Given the description of an element on the screen output the (x, y) to click on. 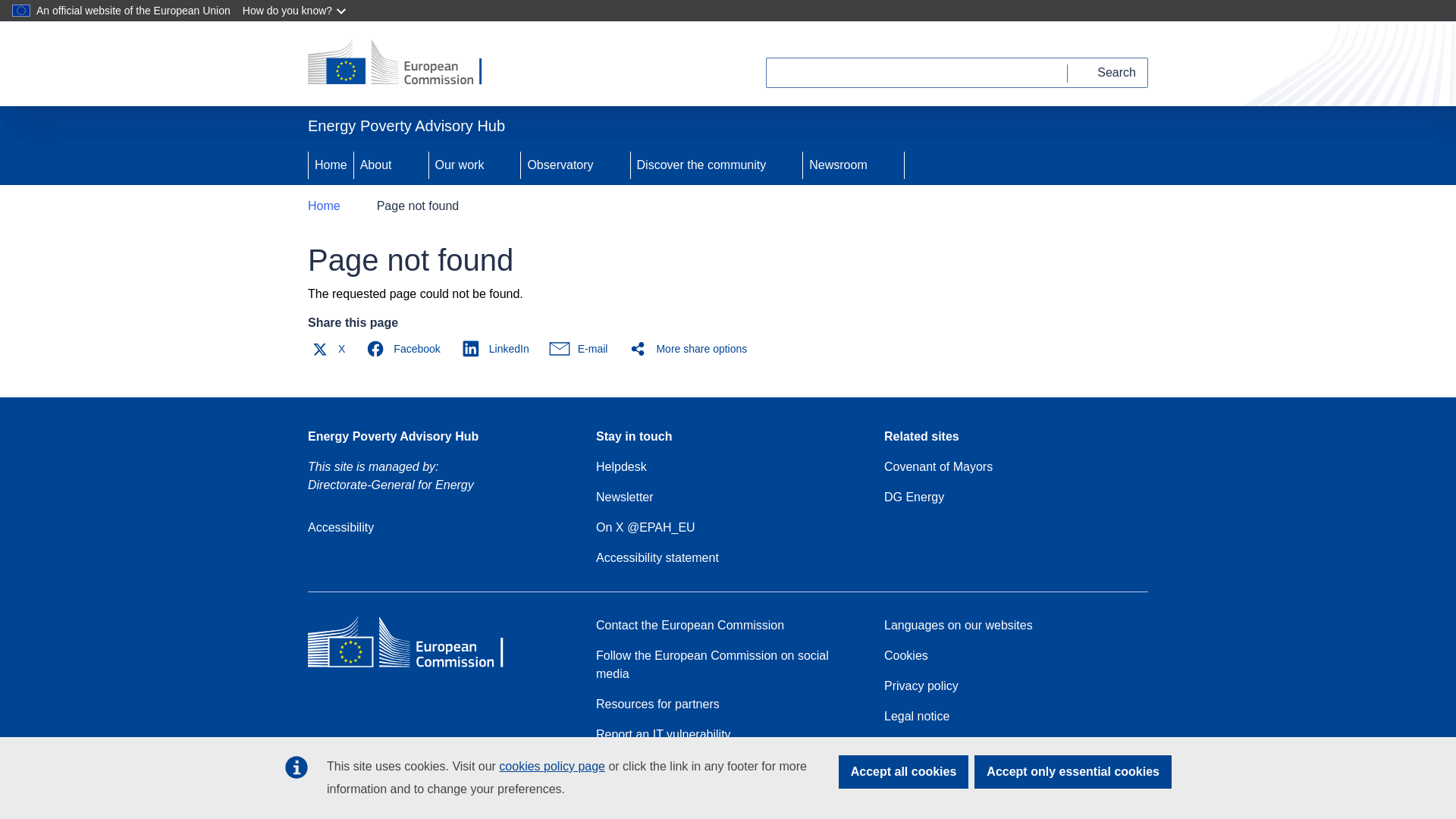
Accept all cookies (903, 771)
Accept only essential cookies (1073, 771)
European Commission (417, 666)
Our work (458, 165)
Observatory (558, 165)
About (373, 165)
Search (1107, 72)
Home (330, 165)
Discover the community (700, 165)
